Given the description of an element on the screen output the (x, y) to click on. 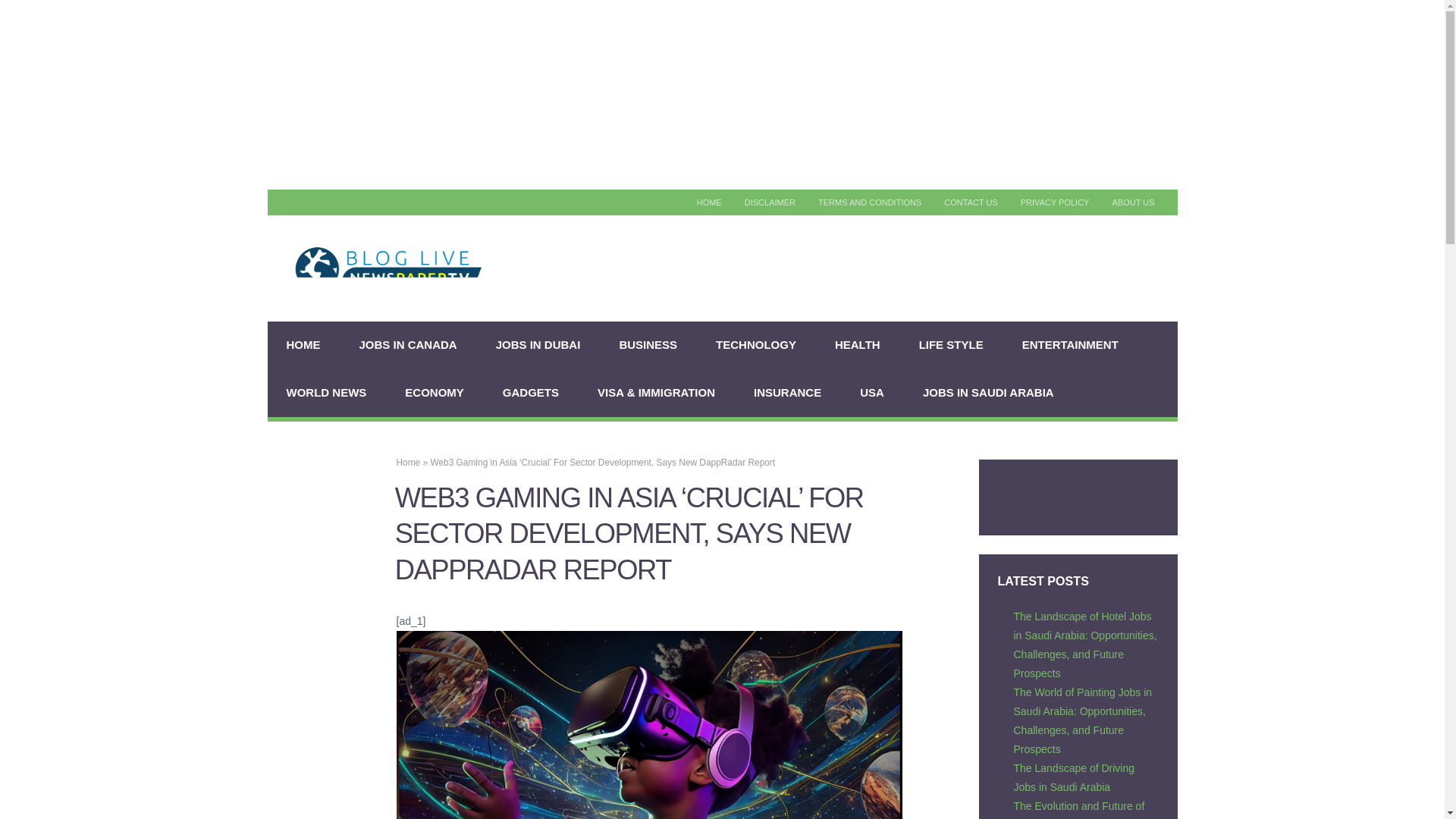
HEALTH (857, 345)
GADGETS (530, 392)
JOBS IN DUBAI (538, 345)
TECHNOLOGY (756, 345)
ABOUT US (1133, 202)
DISCLAIMER (769, 202)
USA (872, 392)
ENTERTAINMENT (1070, 345)
BUSINESS (648, 345)
JOBS IN SAUDI ARABIA (989, 392)
